Given the description of an element on the screen output the (x, y) to click on. 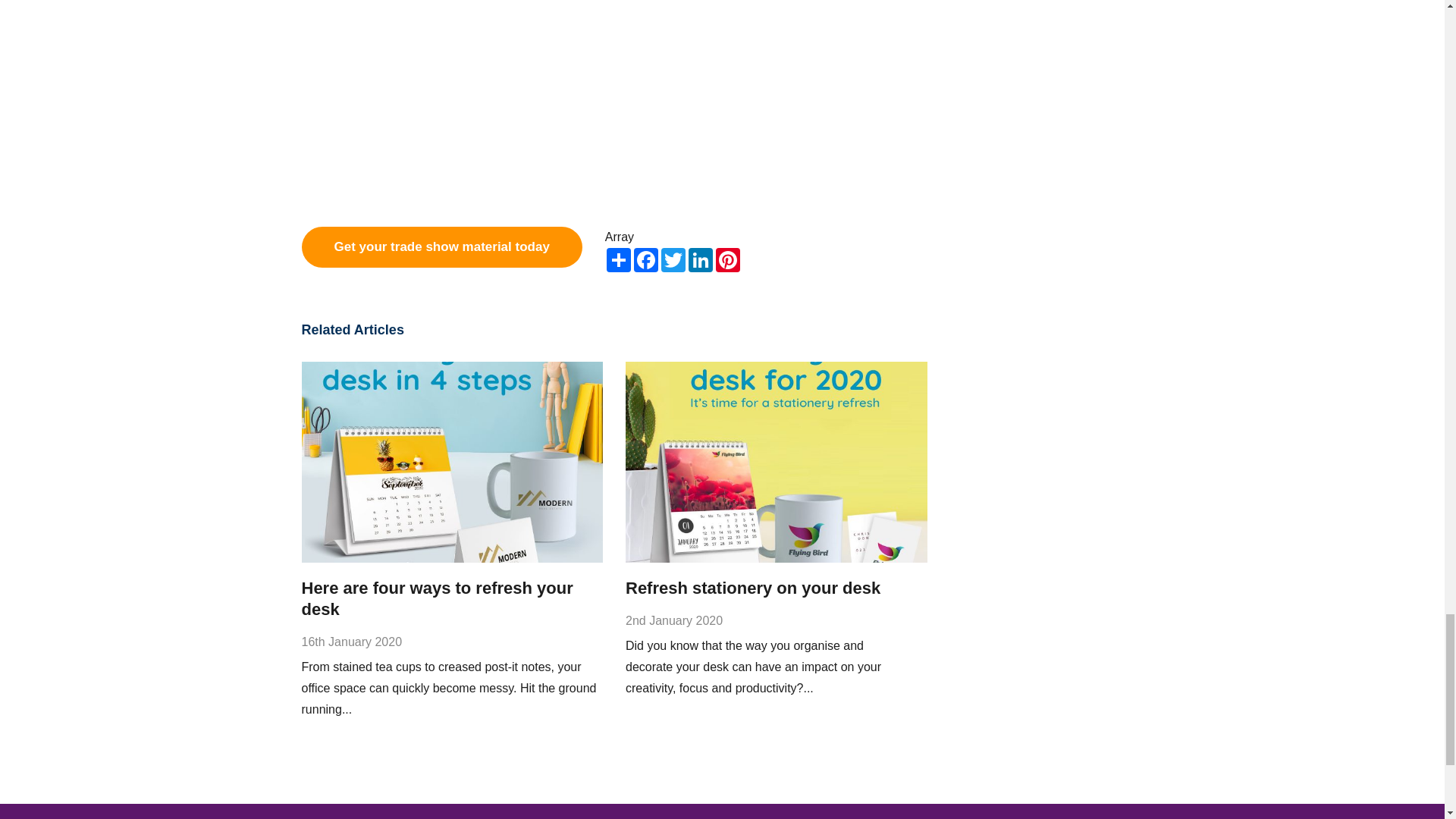
Are you ready for your next trade show? (491, 107)
Get your trade show material today (441, 246)
Pinterest (727, 259)
Twitter (673, 259)
LinkedIn (700, 259)
Here are four ways to refresh your desk (437, 598)
Refresh stationery on your desk (753, 587)
Facebook (645, 259)
